Given the description of an element on the screen output the (x, y) to click on. 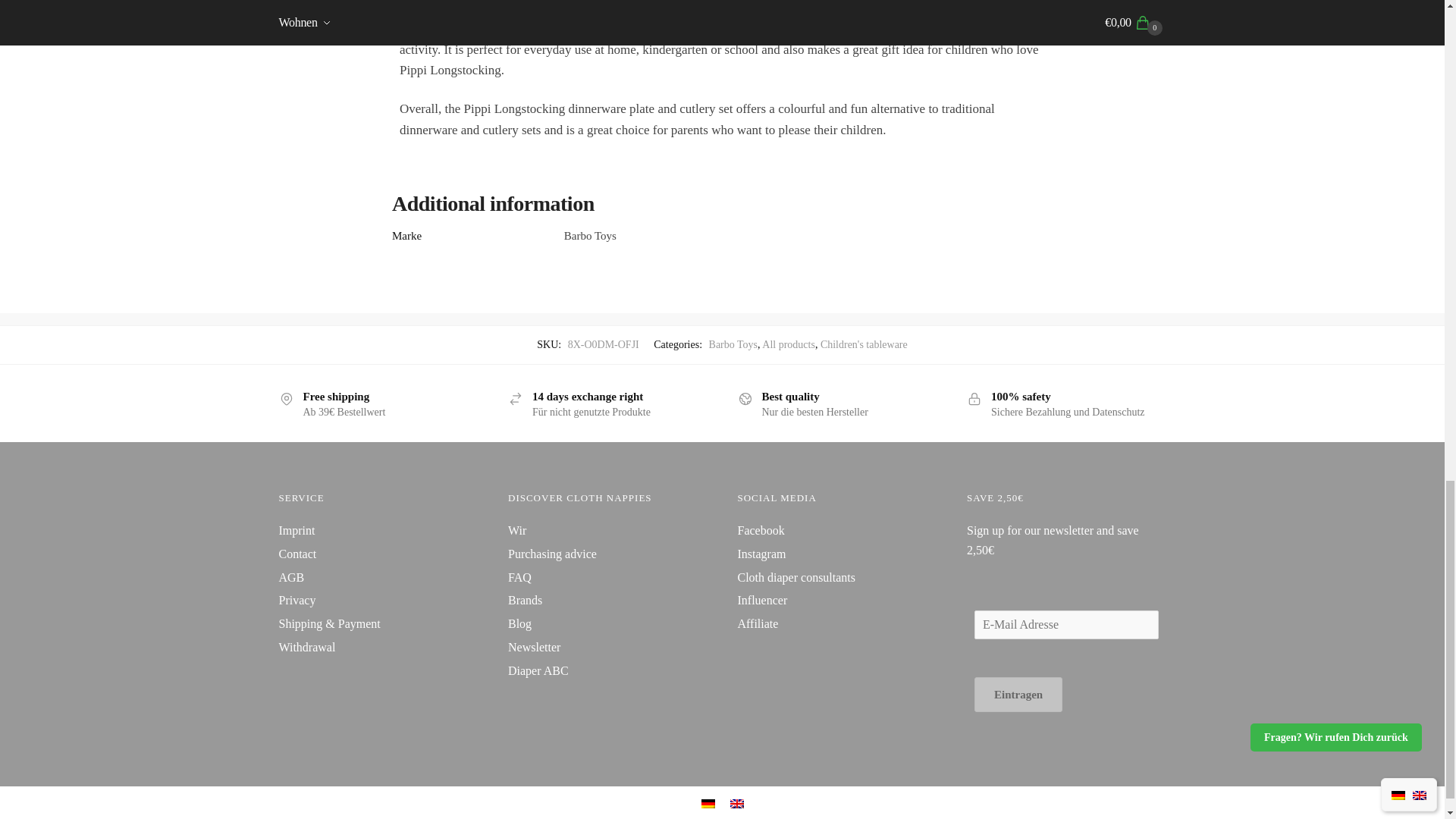
AGB (291, 576)
Barbo Toys (733, 344)
Contact (298, 553)
Children's tableware (864, 344)
Withdrawal (307, 646)
Imprint (297, 530)
All products (788, 344)
Privacy (297, 599)
